Given the description of an element on the screen output the (x, y) to click on. 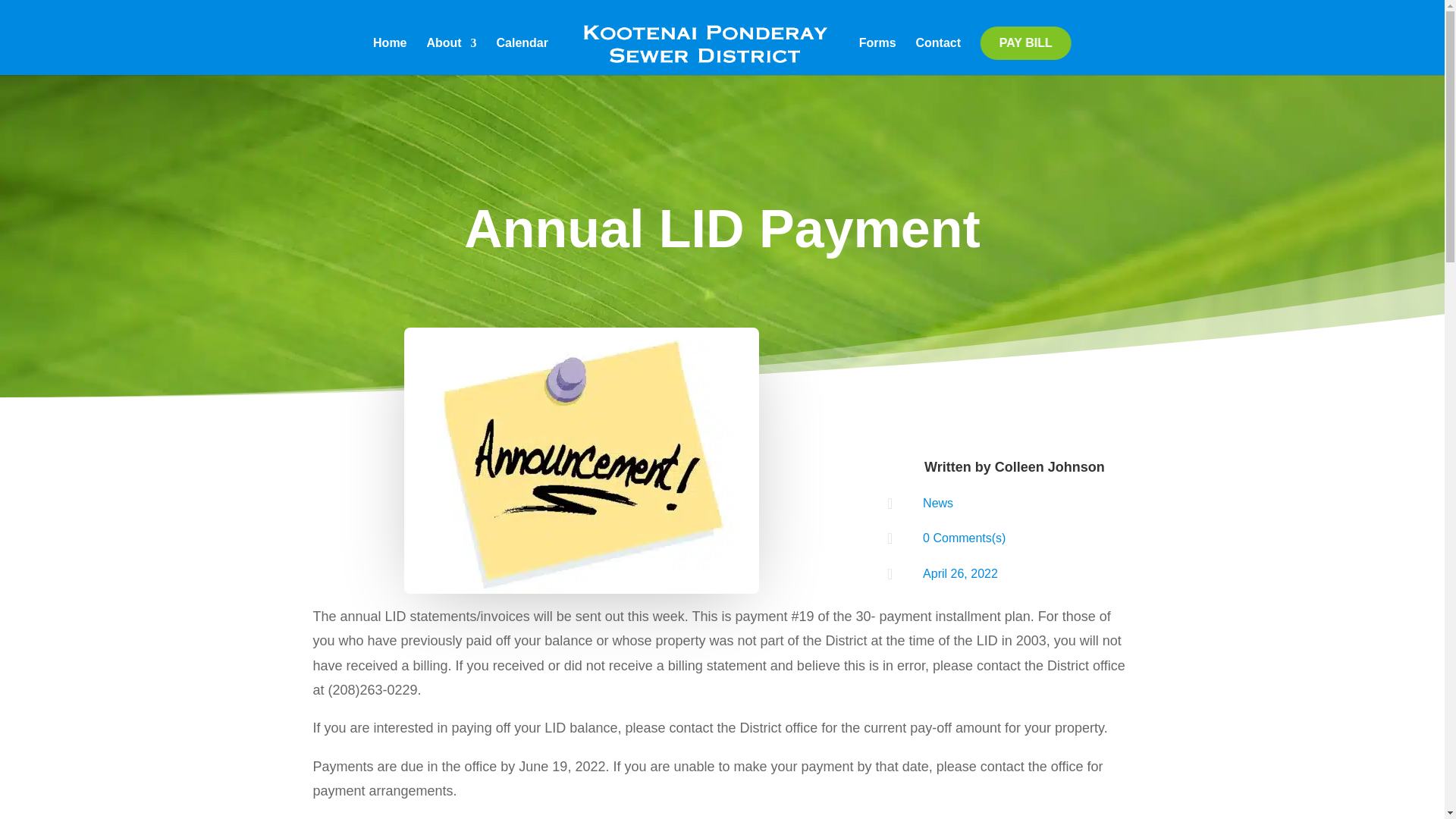
announcement (581, 460)
Home (389, 56)
Contact (937, 56)
Colleen Johnson (1049, 467)
About (451, 56)
News (938, 502)
Calendar (521, 56)
PAY BILL (1024, 42)
Forms (877, 56)
